Given the description of an element on the screen output the (x, y) to click on. 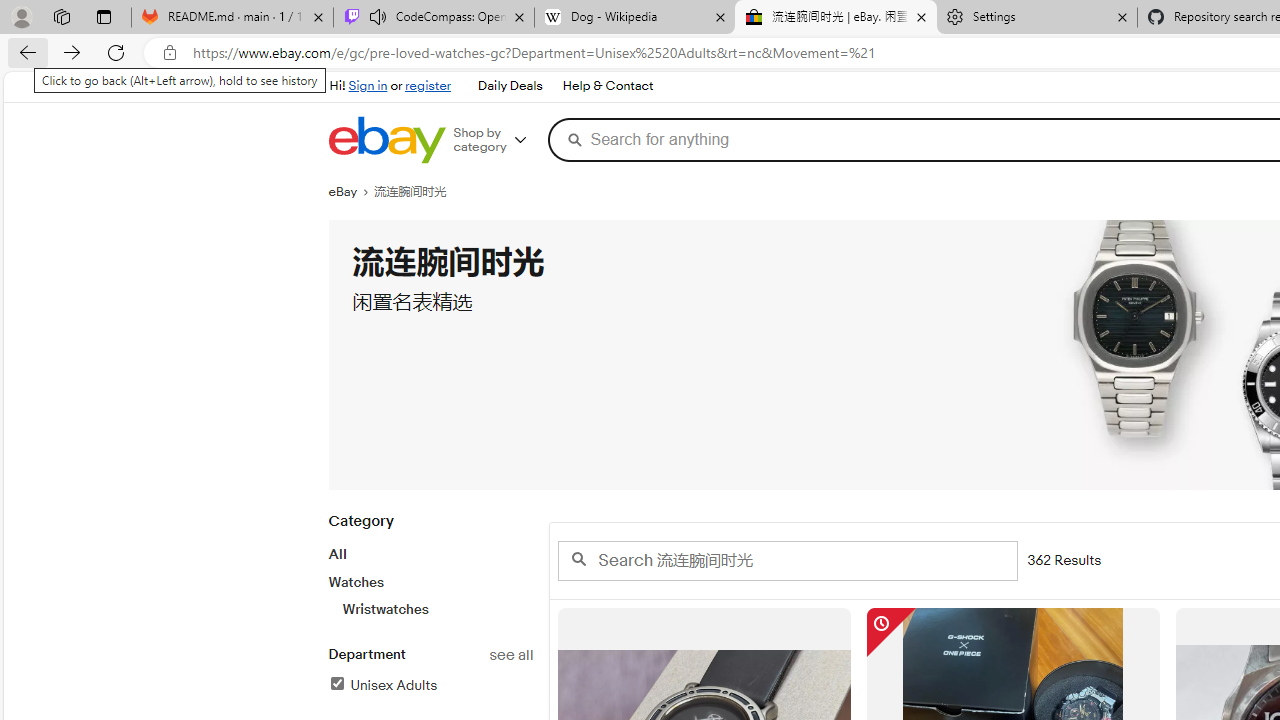
See all department refinements (510, 655)
Daily Deals (509, 85)
AllWatchesWristwatches (430, 581)
Departmentsee allUnisex AdultsFilter Applied (430, 681)
register (427, 85)
Unisex Adults Filter Applied (381, 685)
eBay (351, 192)
Mute tab (377, 16)
